Given the description of an element on the screen output the (x, y) to click on. 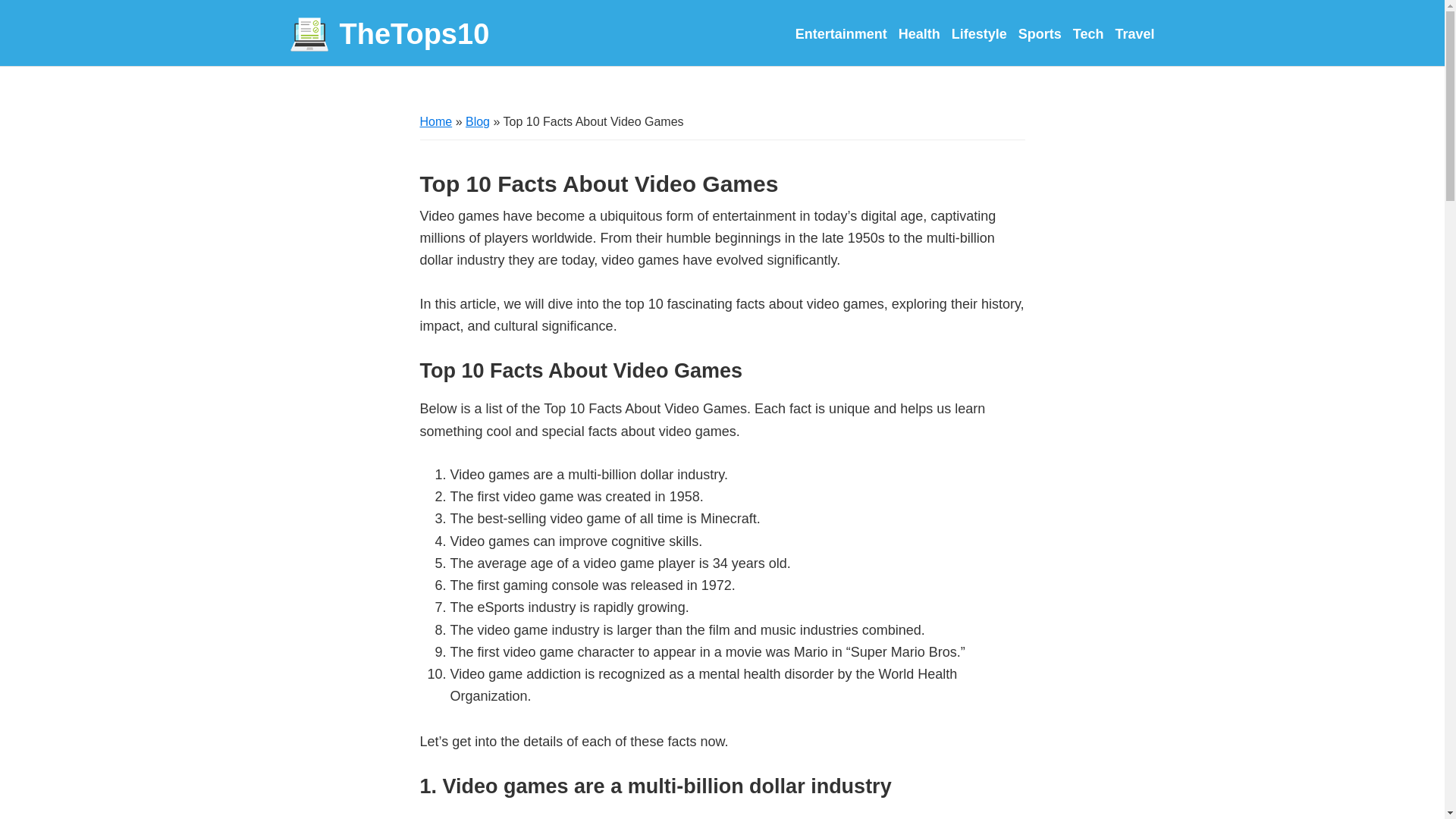
TheTops10 (389, 34)
Health (919, 33)
Tech (1088, 33)
Lifestyle (979, 33)
Entertainment (840, 33)
Home (436, 121)
Sports (1039, 33)
Travel (1134, 33)
Blog (477, 121)
